Given the description of an element on the screen output the (x, y) to click on. 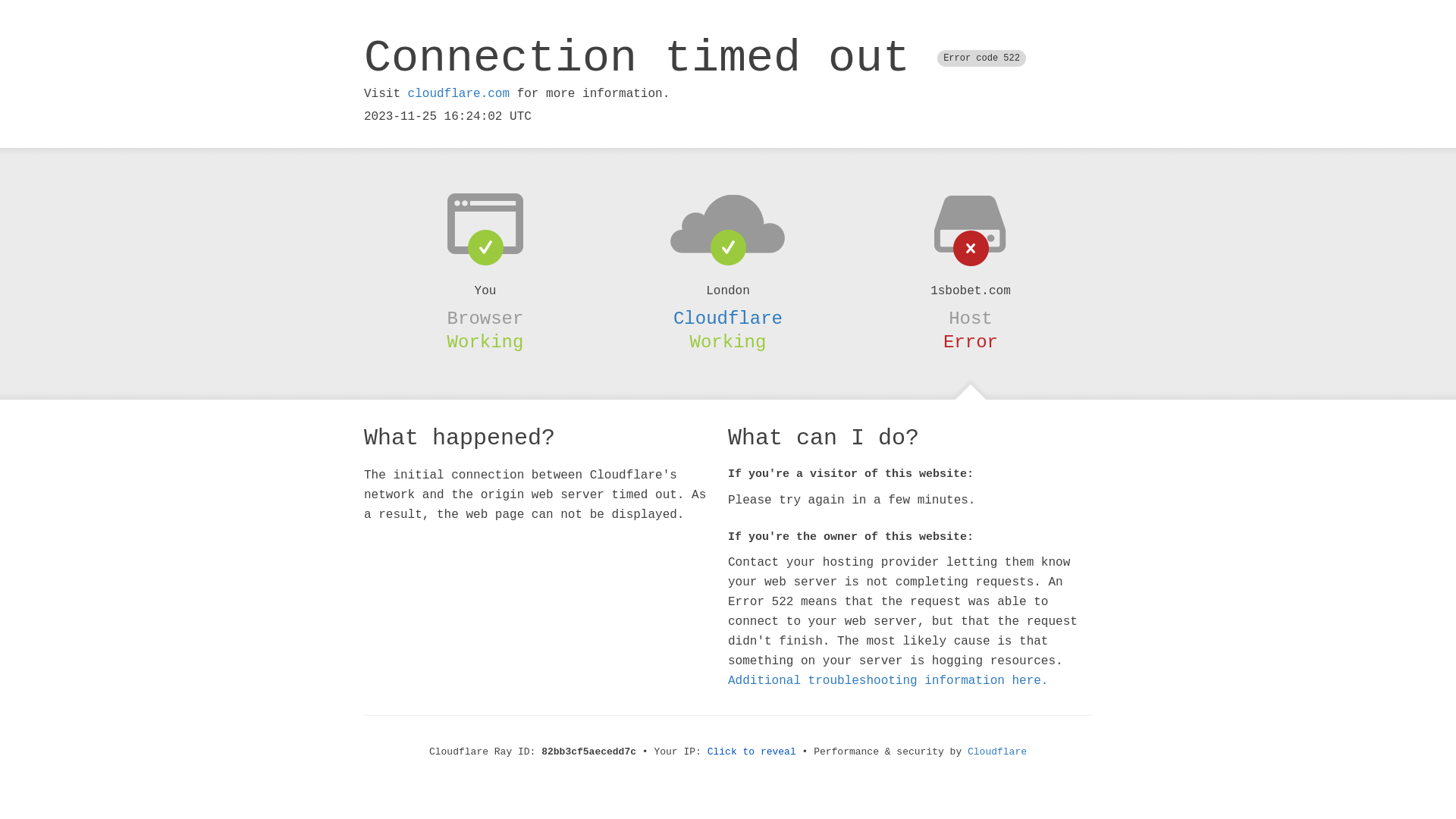
Additional troubleshooting information here. Element type: text (888, 680)
Cloudflare Element type: text (727, 318)
Click to reveal Element type: text (751, 751)
cloudflare.com Element type: text (458, 93)
Cloudflare Element type: text (996, 751)
